Given the description of an element on the screen output the (x, y) to click on. 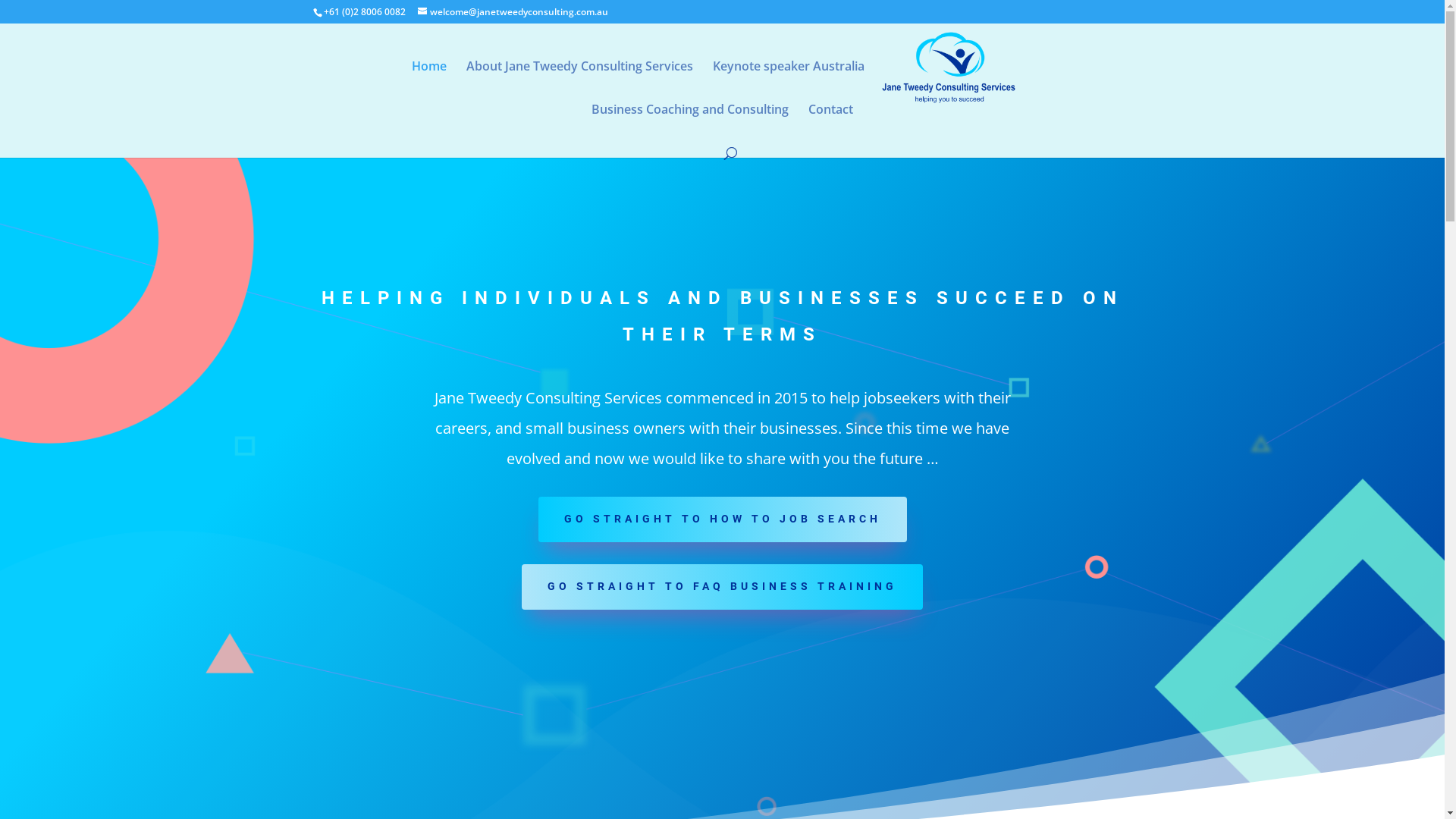
GO STRAIGHT TO HOW TO JOB SEARCH Element type: text (722, 519)
Home Element type: text (428, 81)
Keynote speaker Australia Element type: text (788, 81)
Business Coaching and Consulting Element type: text (689, 125)
GO STRAIGHT TO FAQ BUSINESS TRAINING Element type: text (721, 586)
welcome@janetweedyconsulting.com.au Element type: text (512, 11)
About Jane Tweedy Consulting Services Element type: text (579, 81)
Contact Element type: text (830, 125)
